Given the description of an element on the screen output the (x, y) to click on. 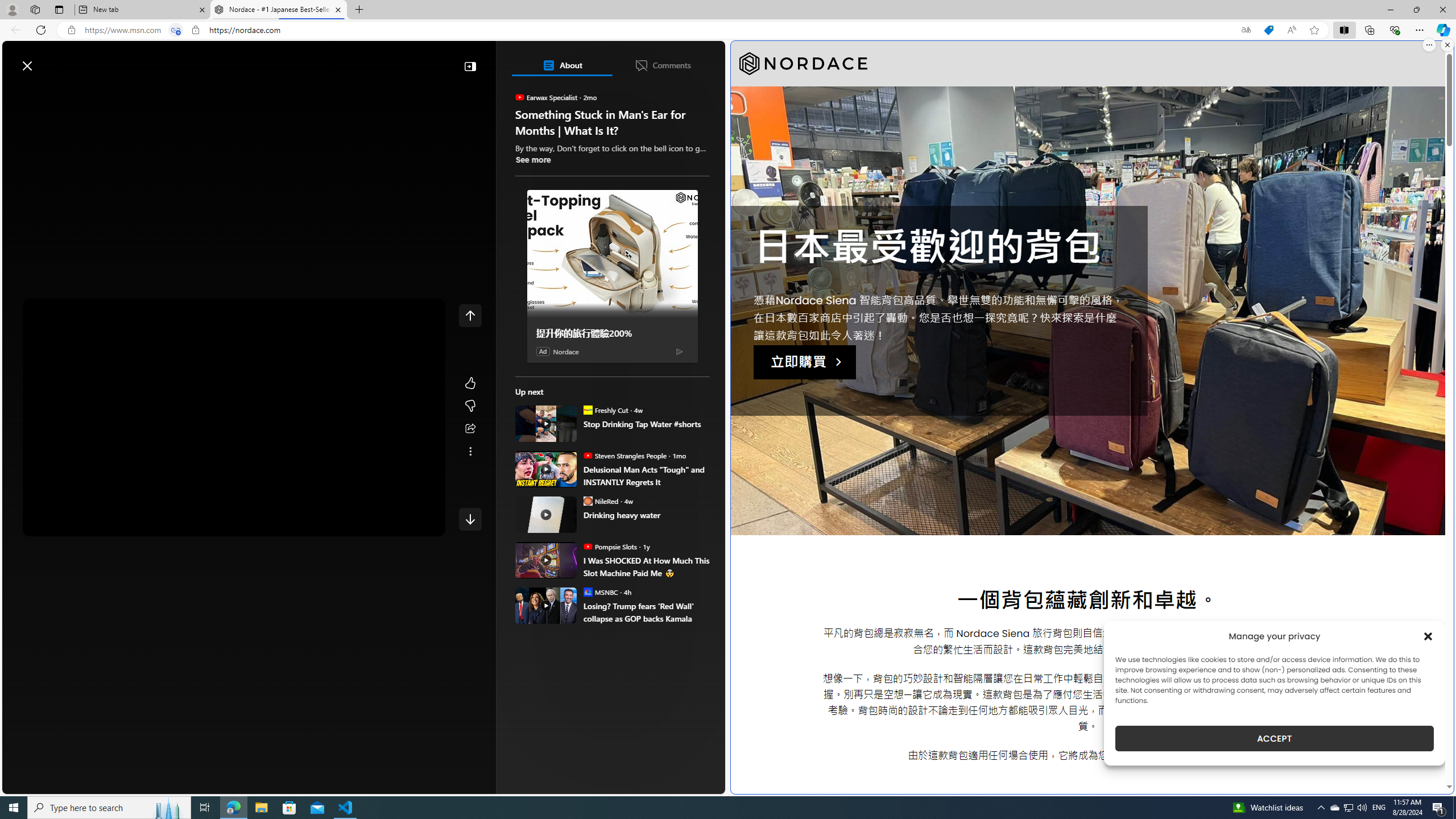
Earwax Specialist (519, 96)
Class: control icon-only (469, 315)
Feedback (681, 784)
Stop Drinking Tap Water #shorts (646, 423)
Personalize (679, 92)
Class: button-glyph (16, 92)
See more (469, 451)
Comments (662, 64)
Share this story (469, 428)
Freshly Cut (587, 409)
